Given the description of an element on the screen output the (x, y) to click on. 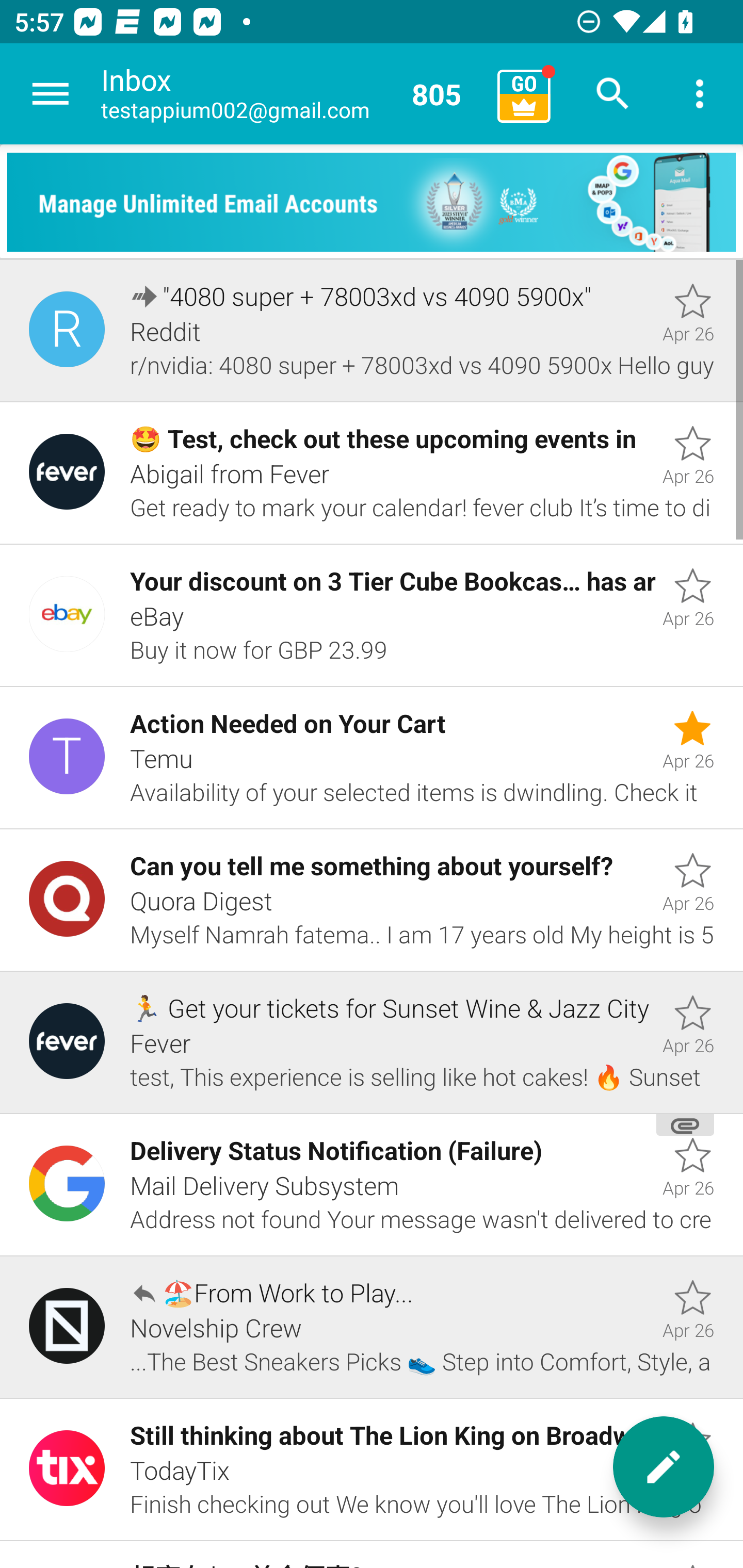
Navigate up (50, 93)
Inbox testappium002@gmail.com 805 (291, 93)
Search (612, 93)
More options (699, 93)
New message (663, 1466)
